Given the description of an element on the screen output the (x, y) to click on. 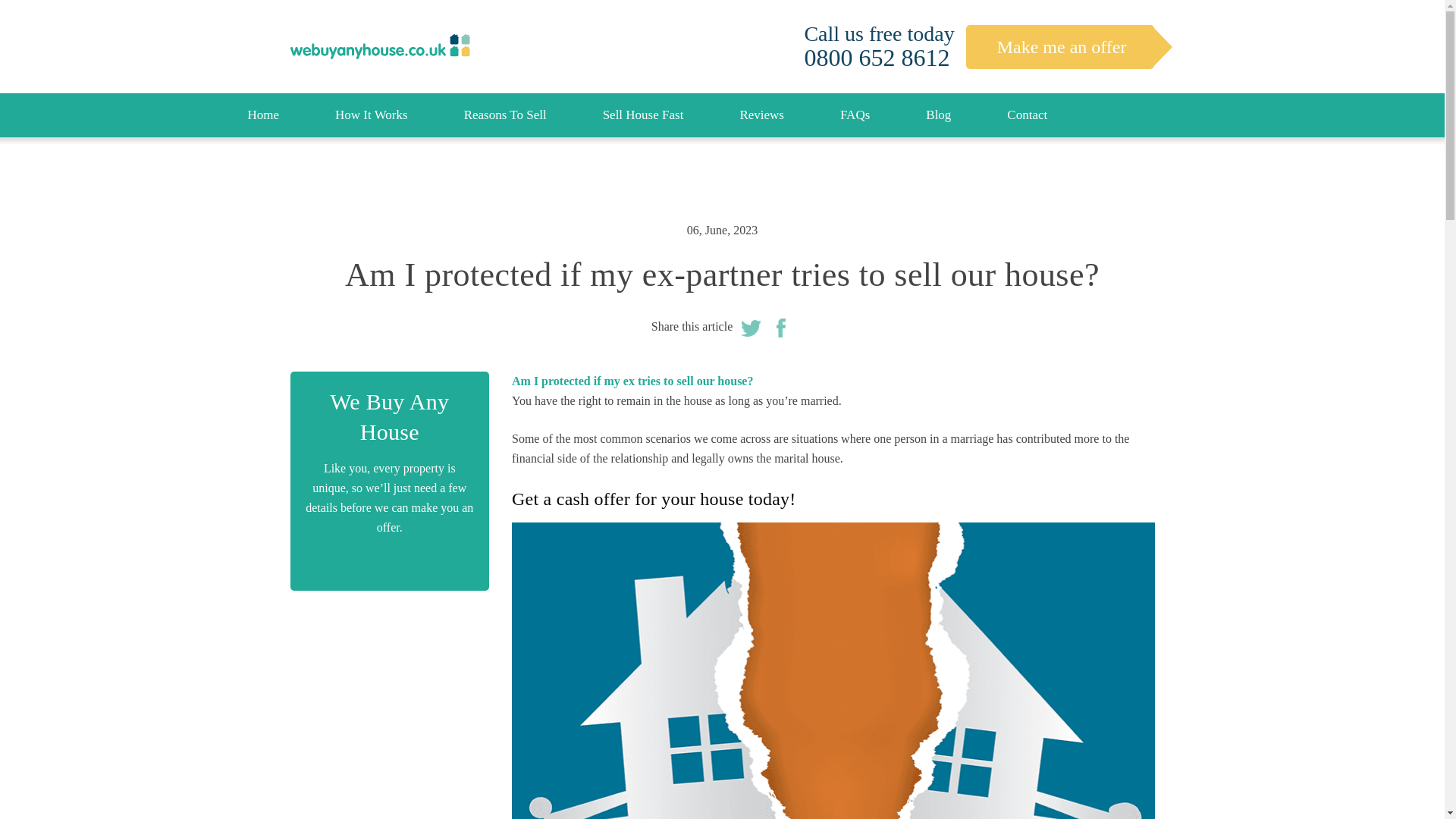
Share Us On Facebook (781, 326)
Make me an offer (1060, 45)
0800 652 8612 (876, 57)
Blog (937, 115)
Sell House Fast (643, 115)
Share Us On Twitter (750, 326)
Home (262, 115)
FAQs (854, 115)
Contact (1027, 115)
Get a cash offer for your house today! (654, 498)
Reviews (761, 115)
How It Works (370, 115)
Reasons To Sell (505, 115)
